Given the description of an element on the screen output the (x, y) to click on. 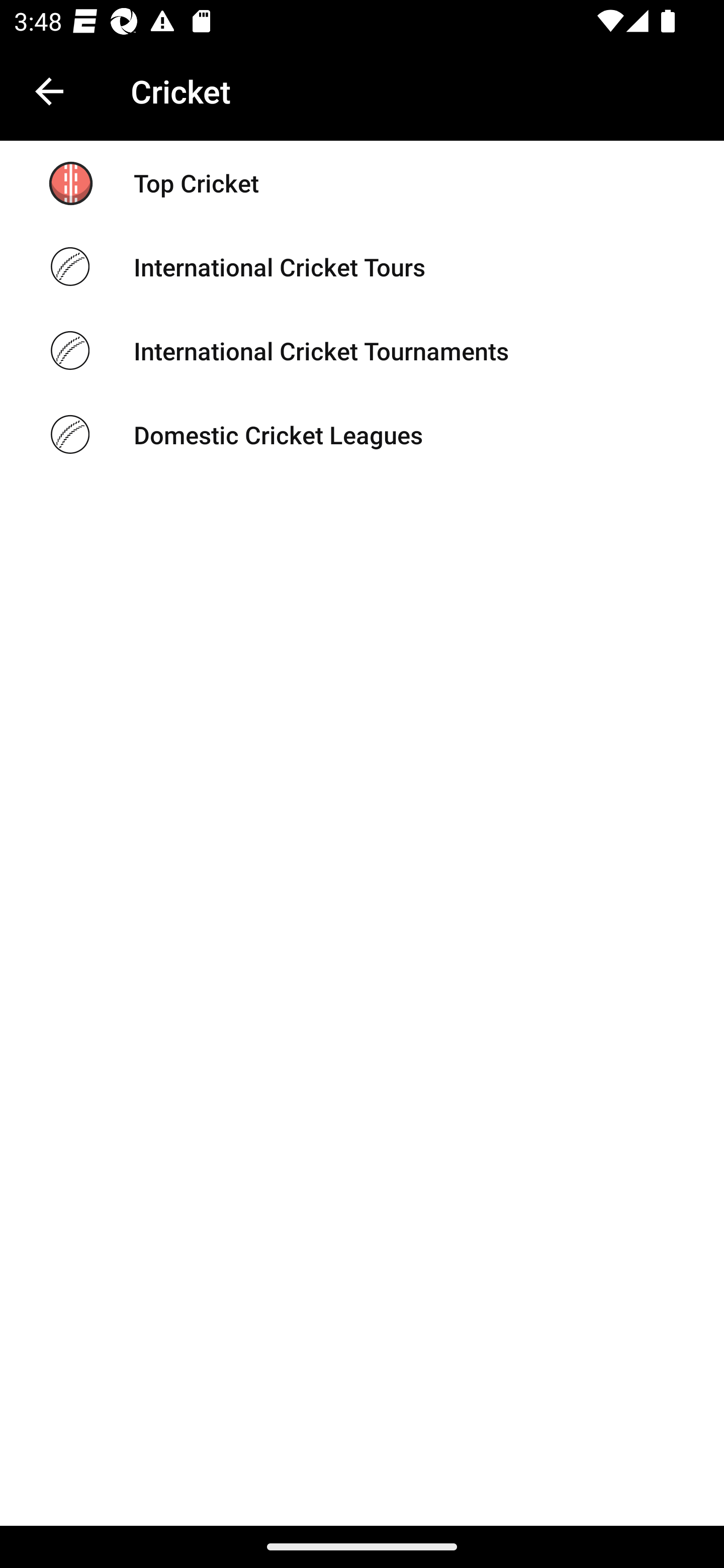
Navigate up (49, 91)
Top Cricket (362, 183)
G International Cricket Tours (362, 266)
G International Cricket Tournaments (362, 350)
G Domestic Cricket Leagues (362, 434)
